Given the description of an element on the screen output the (x, y) to click on. 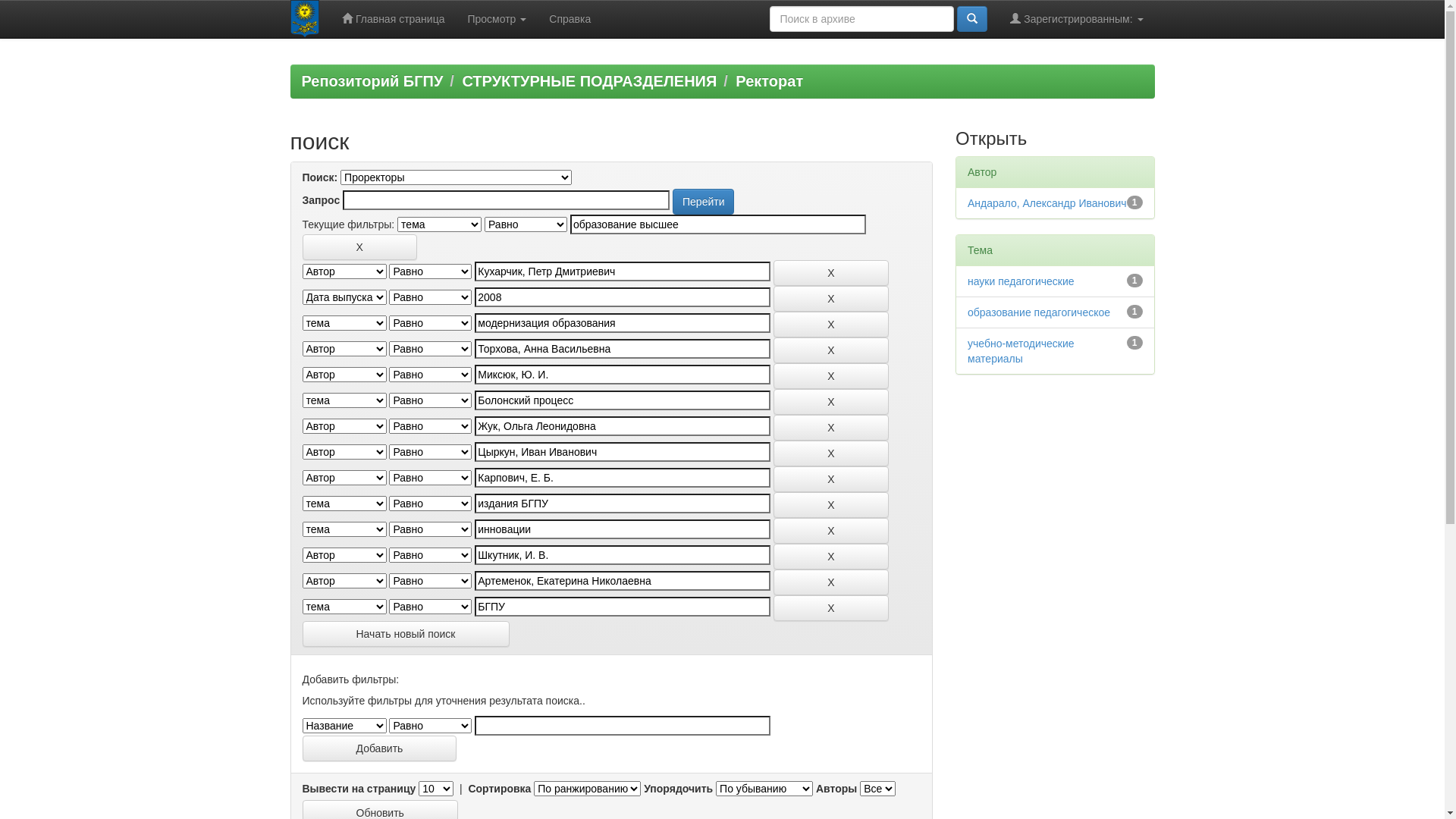
X Element type: text (830, 324)
X Element type: text (830, 504)
X Element type: text (830, 350)
X Element type: text (830, 530)
X Element type: text (830, 556)
X Element type: text (830, 376)
X Element type: text (830, 453)
X Element type: text (358, 247)
X Element type: text (830, 272)
X Element type: text (830, 427)
X Element type: text (830, 608)
X Element type: text (830, 479)
X Element type: text (830, 298)
X Element type: text (830, 582)
X Element type: text (830, 401)
